Given the description of an element on the screen output the (x, y) to click on. 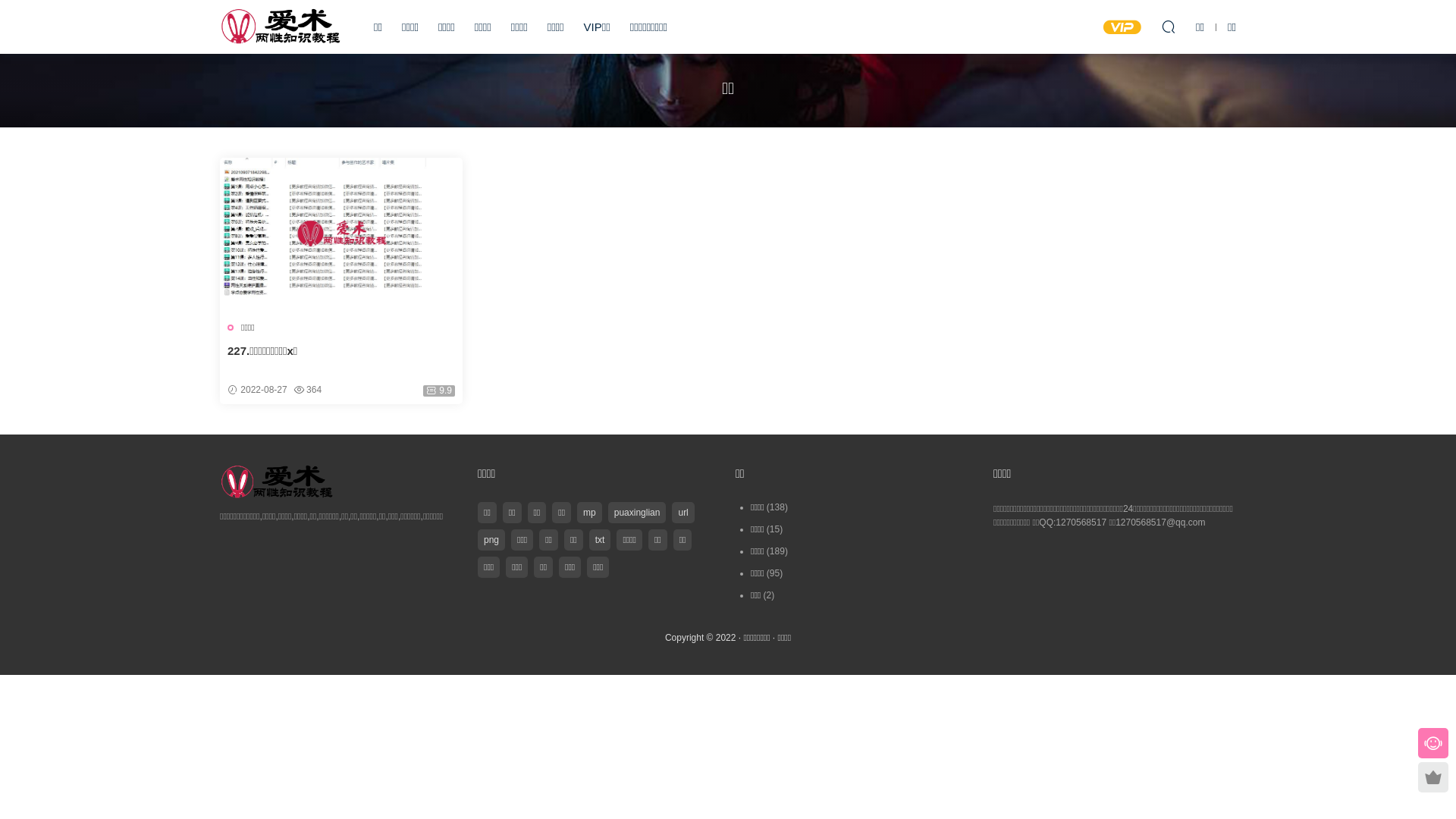
puaxinglian Element type: text (637, 512)
mp Element type: text (589, 512)
png Element type: text (491, 539)
txt Element type: text (600, 539)
url Element type: text (682, 512)
